Given the description of an element on the screen output the (x, y) to click on. 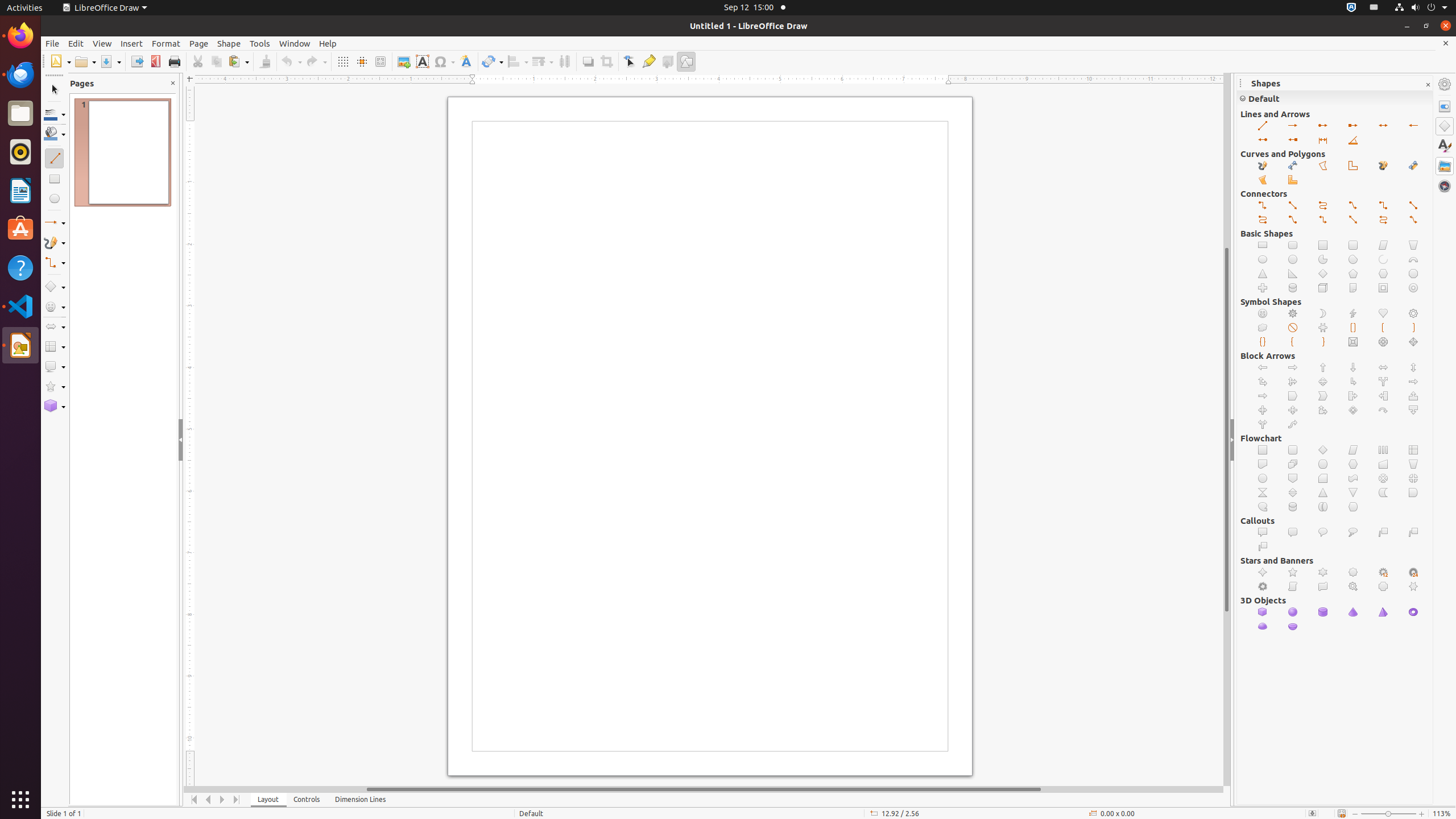
Window Element type: menu (294, 43)
Flowchart: Document Element type: list-item (1262, 464)
Half-Sphere Element type: list-item (1292, 626)
Flowchart: Data Element type: list-item (1353, 450)
Print Element type: push-button (173, 61)
